Given the description of an element on the screen output the (x, y) to click on. 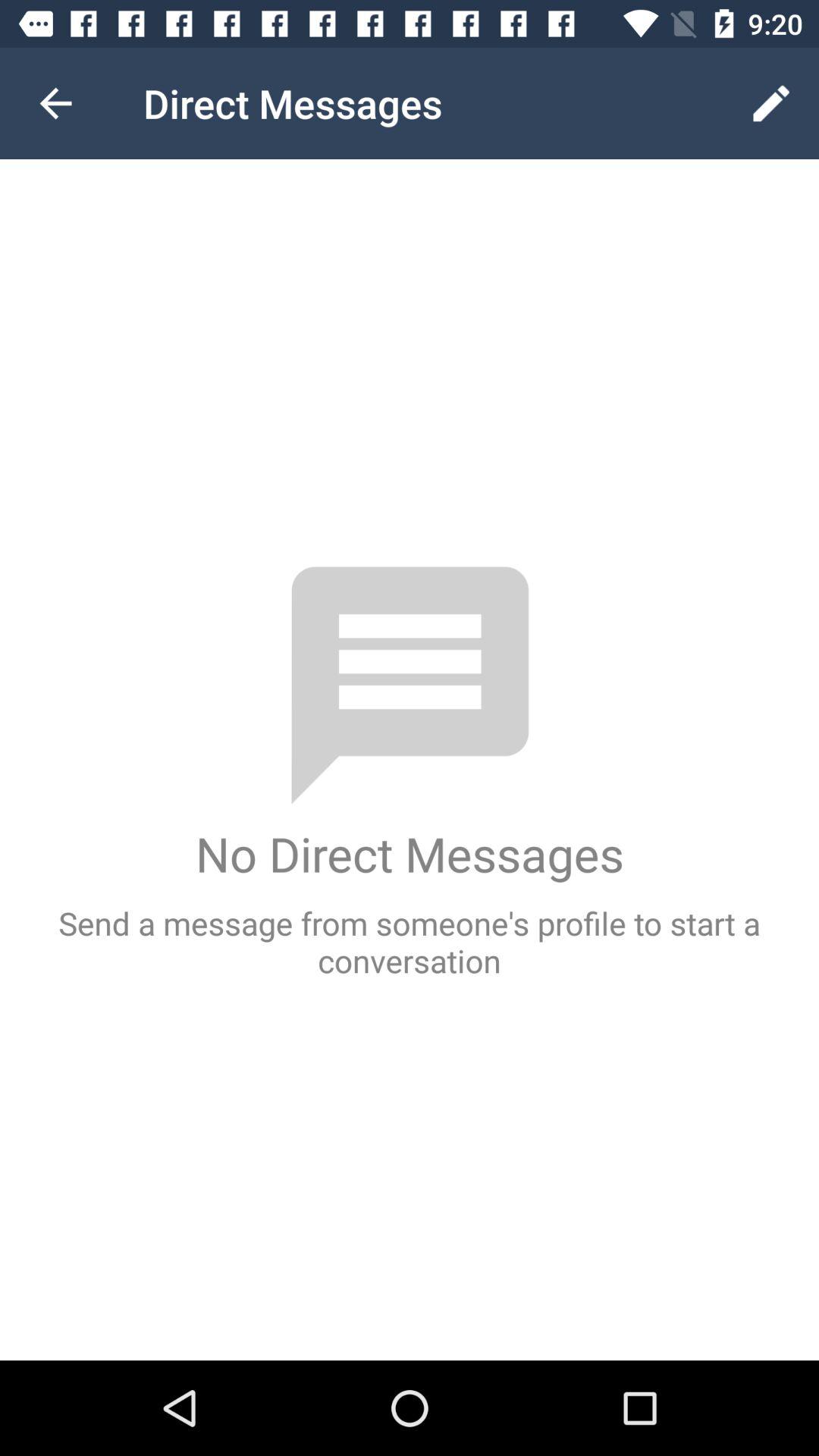
turn on icon at the top left corner (55, 103)
